Given the description of an element on the screen output the (x, y) to click on. 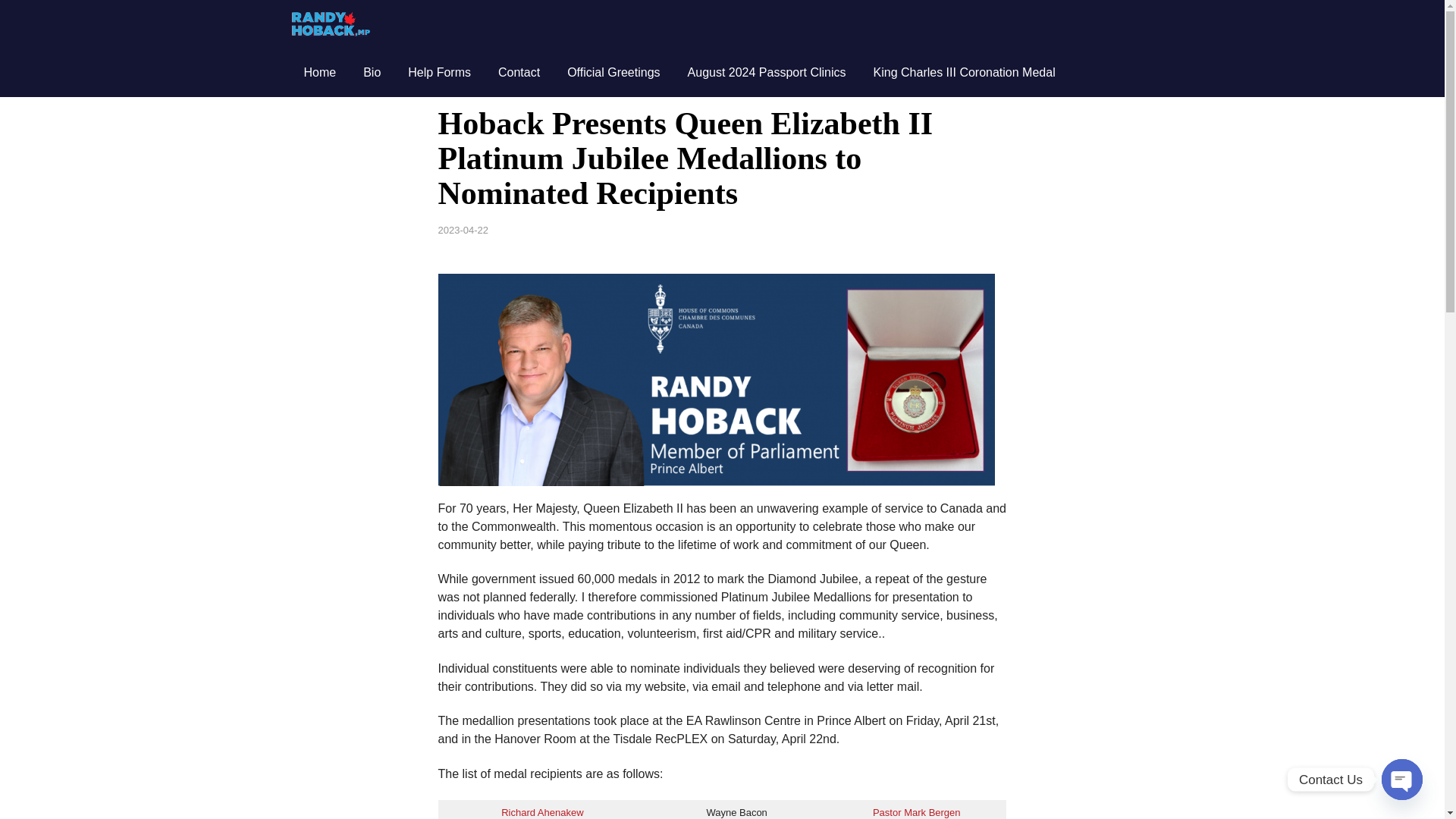
MP Randy Hoback (330, 24)
Richard Ahenakew (541, 812)
Pastor Mark Bergen (916, 812)
Contact (518, 72)
Official Greetings (612, 72)
August 2024 Passport Clinics (767, 72)
Bio (371, 72)
Home (319, 72)
King Charles III Coronation Medal (964, 72)
Help Forms (439, 72)
